Given the description of an element on the screen output the (x, y) to click on. 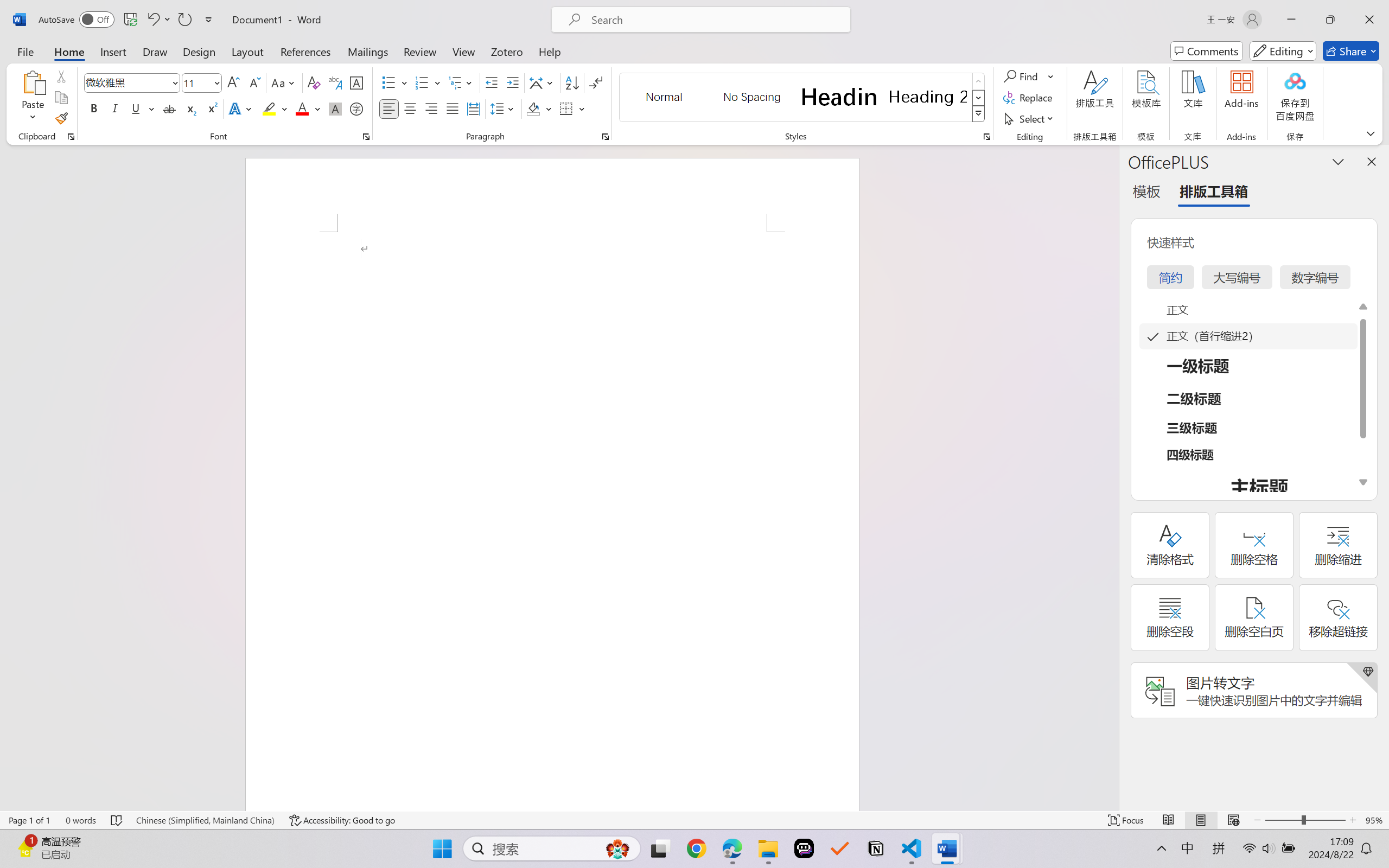
AutomationID: QuickStylesGallery (802, 97)
